Given the description of an element on the screen output the (x, y) to click on. 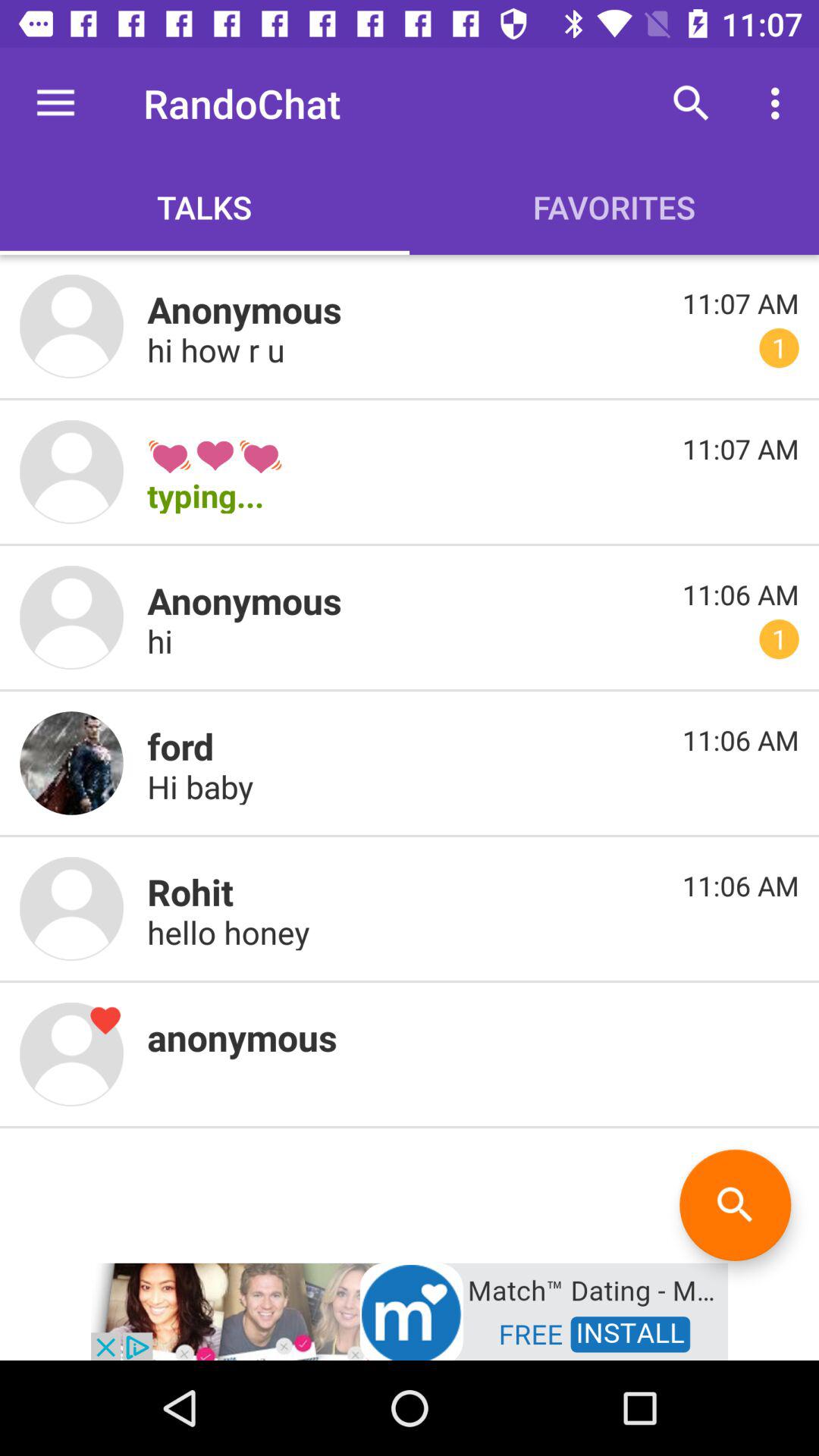
go to profile (71, 617)
